Given the description of an element on the screen output the (x, y) to click on. 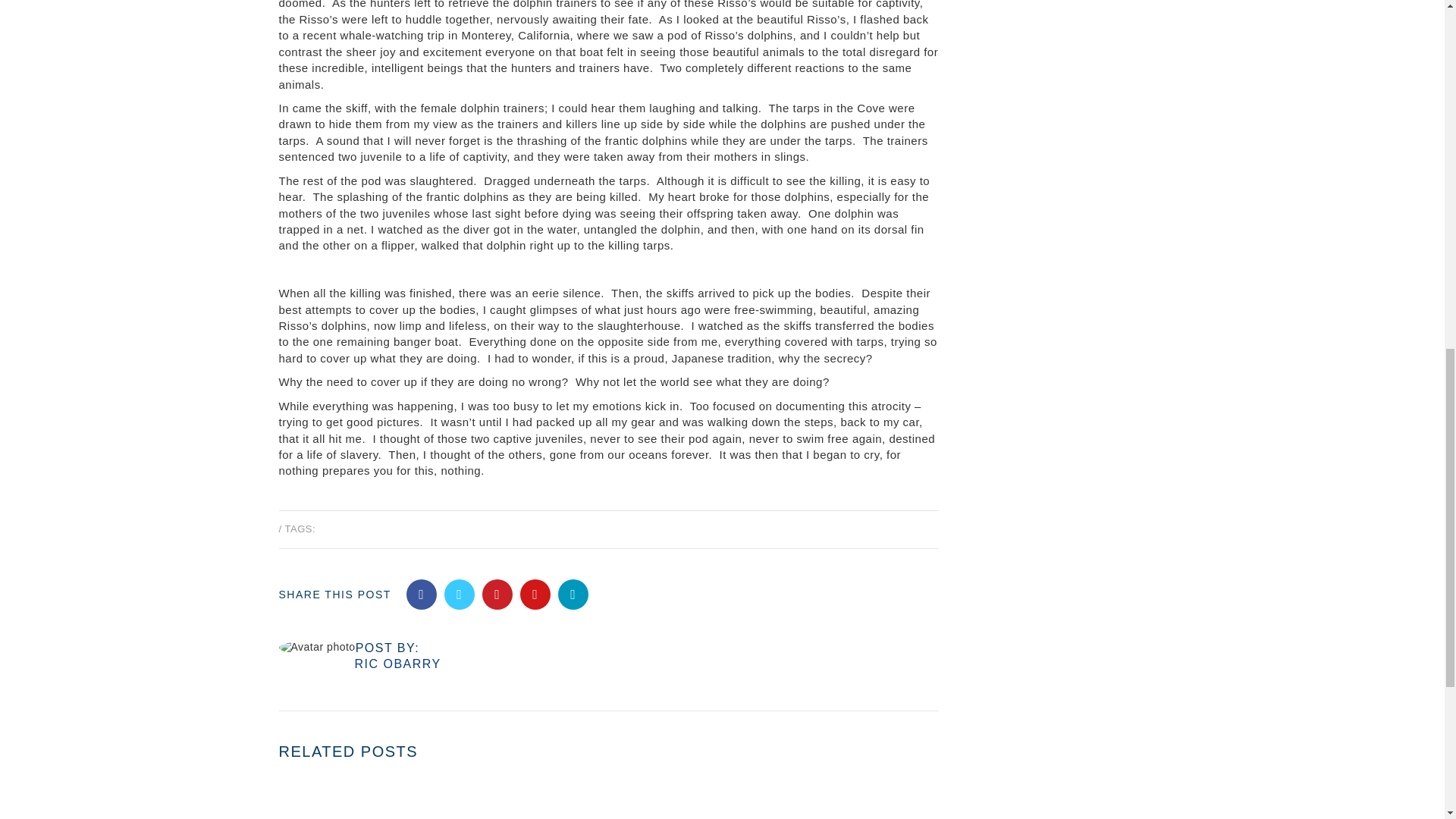
LinkedIn (572, 594)
Twitter (459, 594)
Facebook (421, 594)
Pinterest (496, 594)
